Given the description of an element on the screen output the (x, y) to click on. 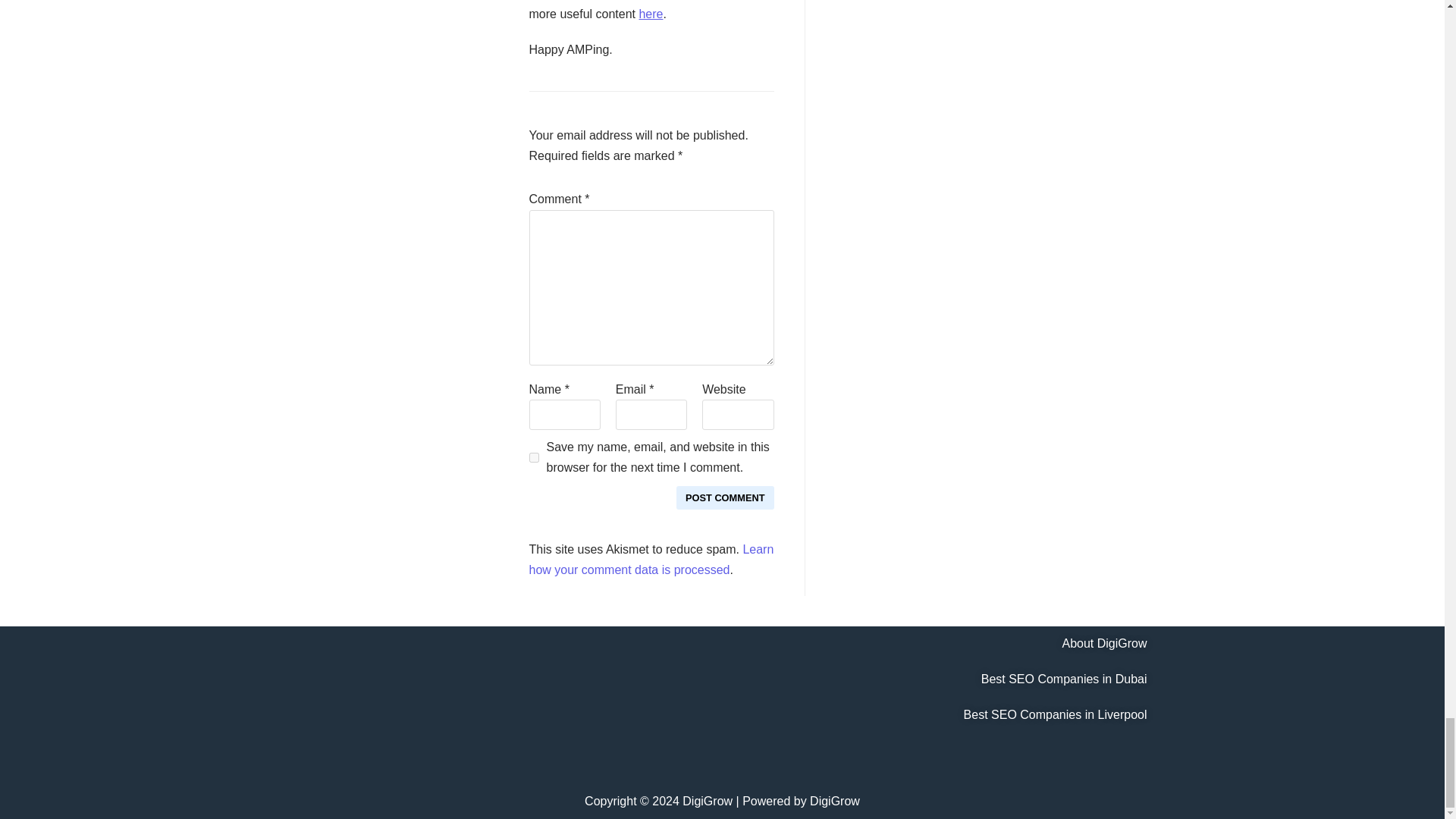
Best SEO Companies in Liverpool (1055, 714)
Best SEO Companies in Dubai (1064, 678)
Learn how your comment data is processed (651, 559)
yes (533, 457)
About DigiGrow (1104, 643)
here (650, 13)
Post Comment (725, 497)
Post Comment (725, 497)
